Given the description of an element on the screen output the (x, y) to click on. 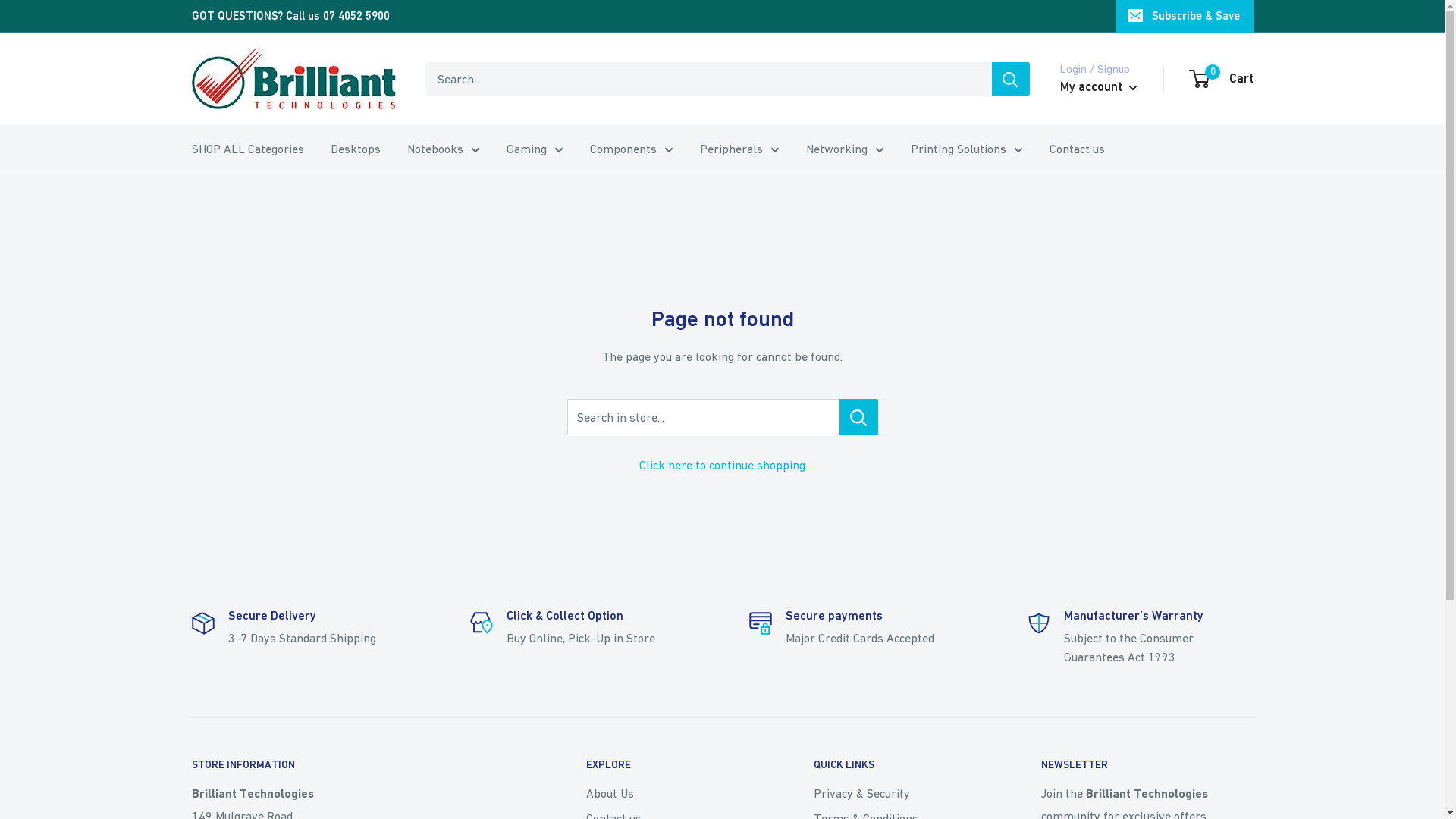
Printing Solutions Element type: text (966, 149)
Contact us Element type: text (1076, 149)
Subscribe & Save Element type: text (1184, 15)
Desktops Element type: text (355, 149)
STORE INFORMATION Element type: text (361, 765)
About Us Element type: text (672, 793)
GOT QUESTIONS? Call us 07 4052 5900 Element type: text (290, 15)
Networking Element type: text (844, 149)
EXPLORE Element type: text (672, 765)
Peripherals Element type: text (738, 149)
0
Cart Element type: text (1221, 78)
SHOP ALL Categories Element type: text (247, 149)
QUICK LINKS Element type: text (899, 765)
My account Element type: text (1098, 87)
Components Element type: text (631, 149)
Privacy & Security Element type: text (899, 793)
Notebooks Element type: text (442, 149)
Gaming Element type: text (534, 149)
Click here to continue shopping Element type: text (722, 464)
